Given the description of an element on the screen output the (x, y) to click on. 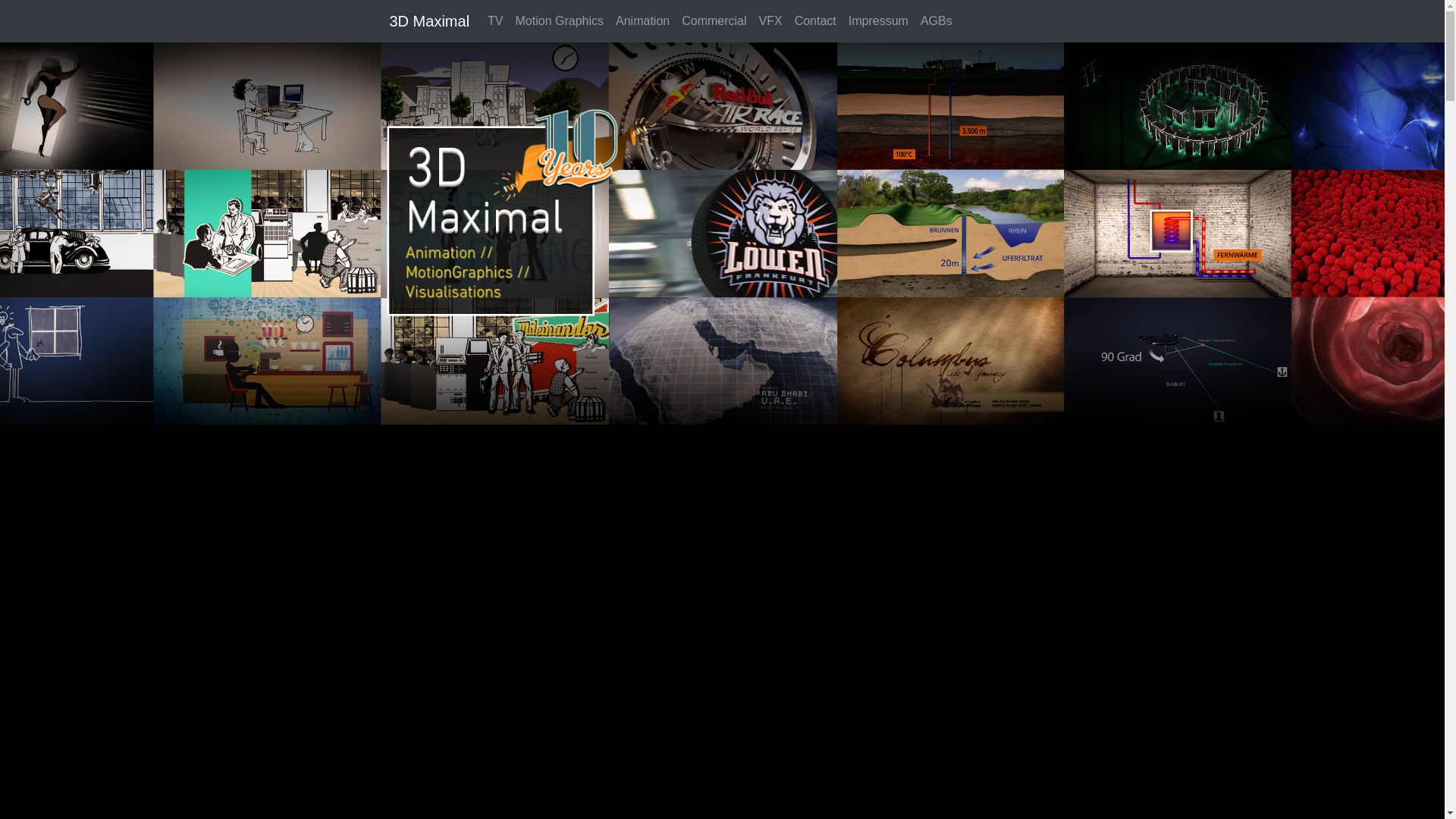
Motion Graphics Element type: text (559, 21)
3D Maximal Element type: text (429, 21)
Commercial Element type: text (713, 21)
TV Element type: text (494, 21)
Contact Element type: text (815, 21)
Animation Element type: text (642, 21)
VFX Element type: text (770, 21)
Impressum Element type: text (878, 21)
AGBs Element type: text (936, 21)
